Given the description of an element on the screen output the (x, y) to click on. 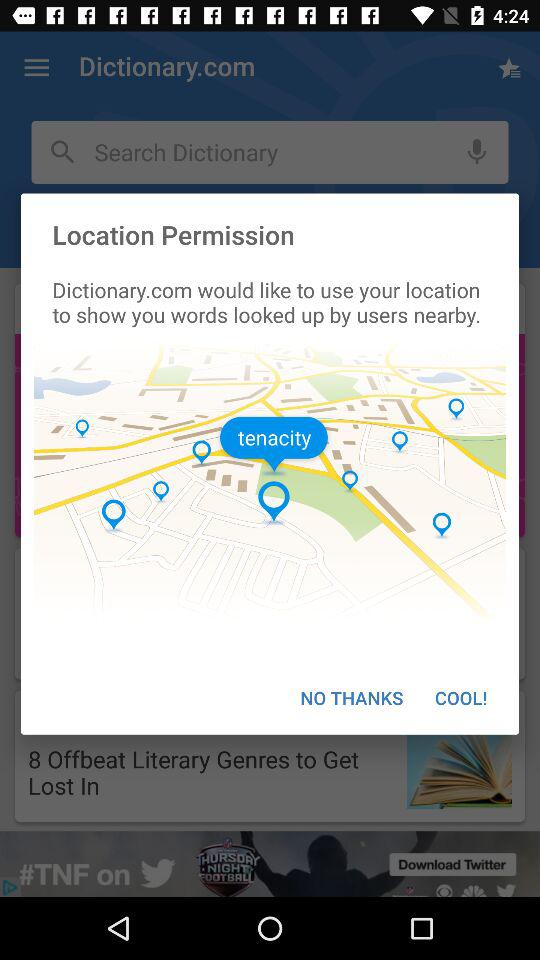
tap the item next to no thanks (461, 697)
